Given the description of an element on the screen output the (x, y) to click on. 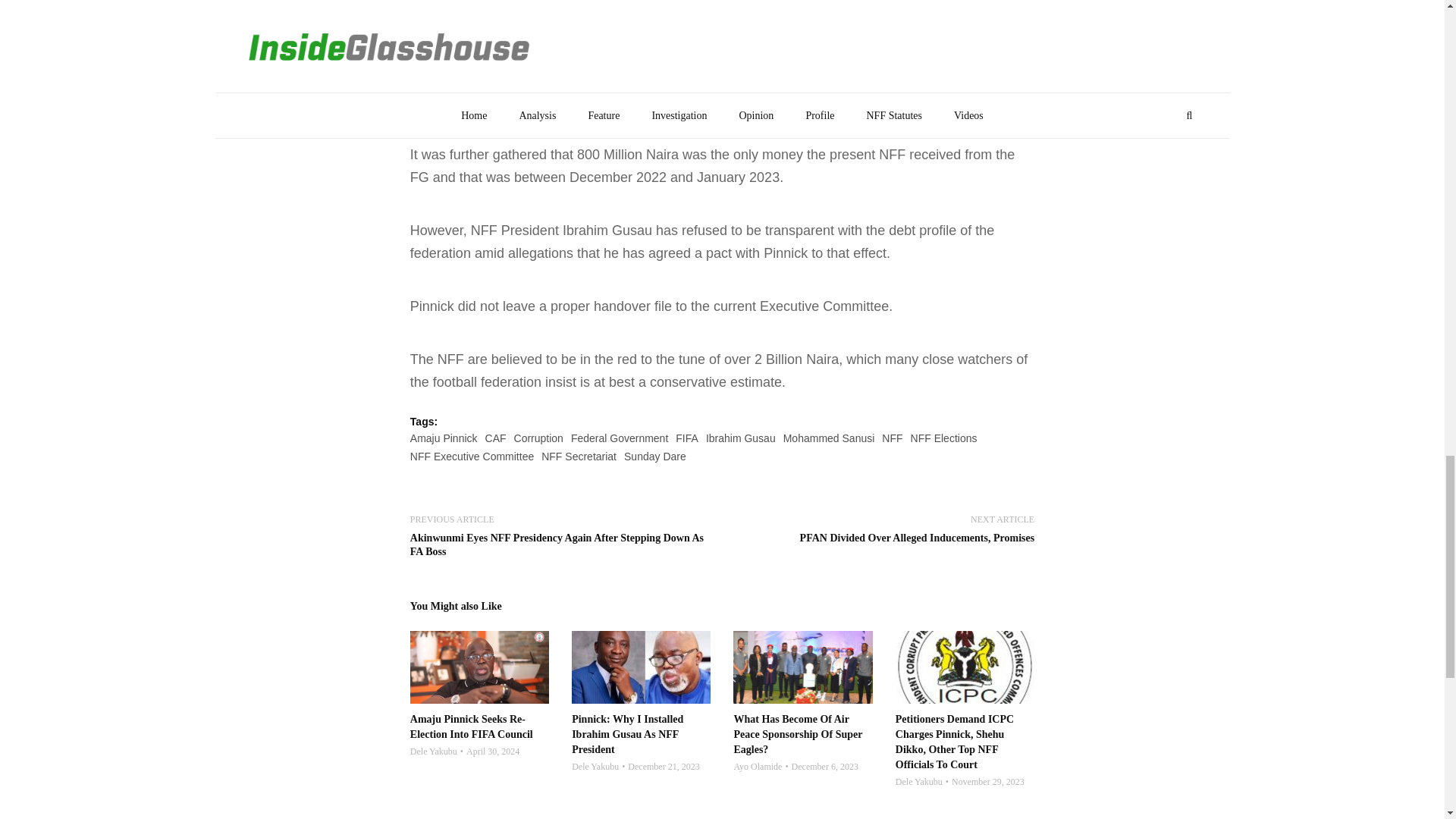
Ibrahim Gusau (741, 438)
NFF Secretariat (578, 456)
Amaju Pinnick (443, 438)
NFF Elections (943, 438)
FIFA (686, 438)
NFF Executive Committee (472, 456)
Mohammed Sanusi (829, 438)
Corruption (538, 438)
Federal Government (619, 438)
CAF (495, 438)
NFF (892, 438)
